Given the description of an element on the screen output the (x, y) to click on. 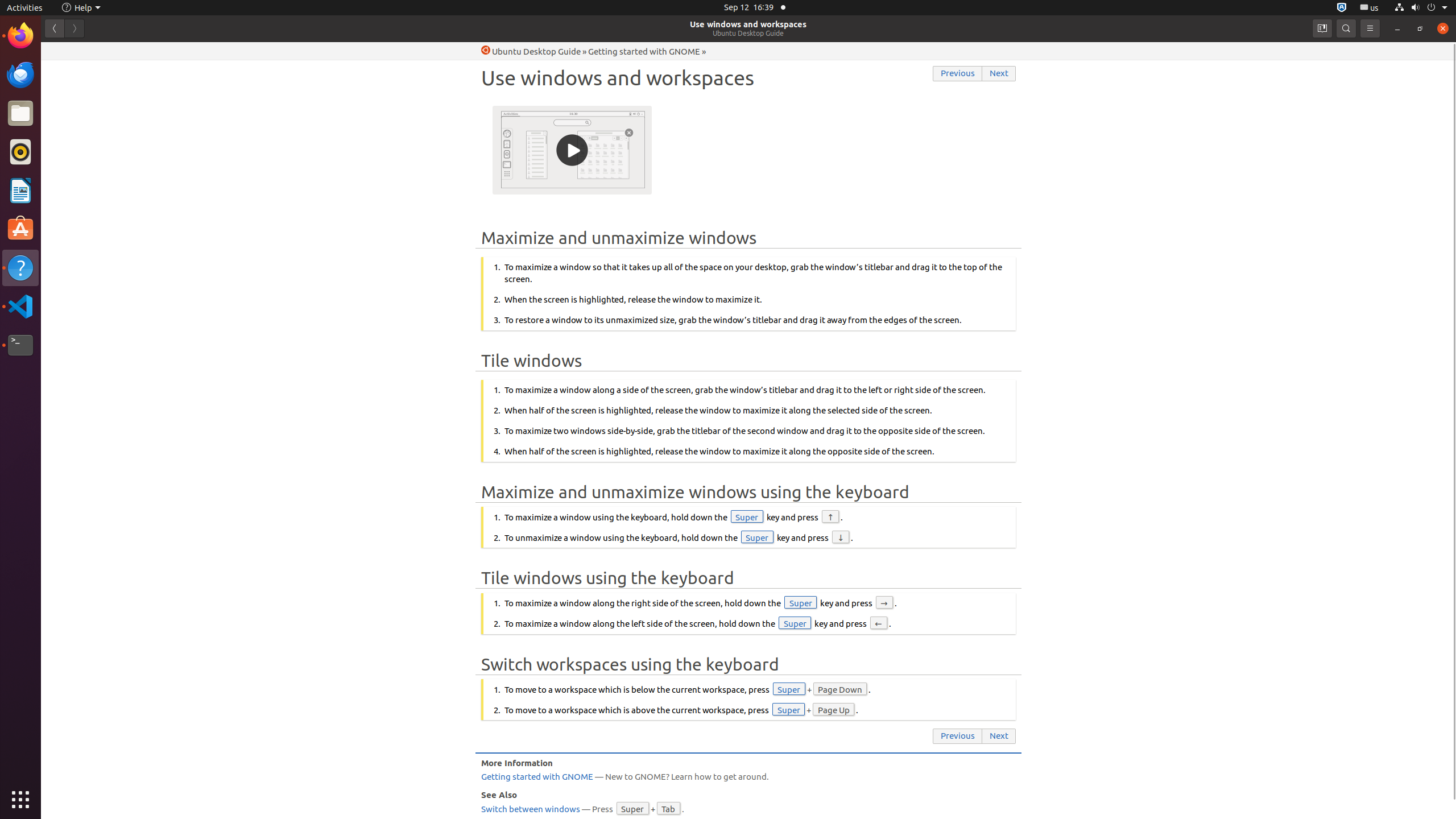
li.txt Element type: label (146, 50)
luyi1 Element type: label (75, 50)
— Press Super + Tab . Element type: list-item (748, 808)
Minimize Element type: push-button (1397, 27)
